Given the description of an element on the screen output the (x, y) to click on. 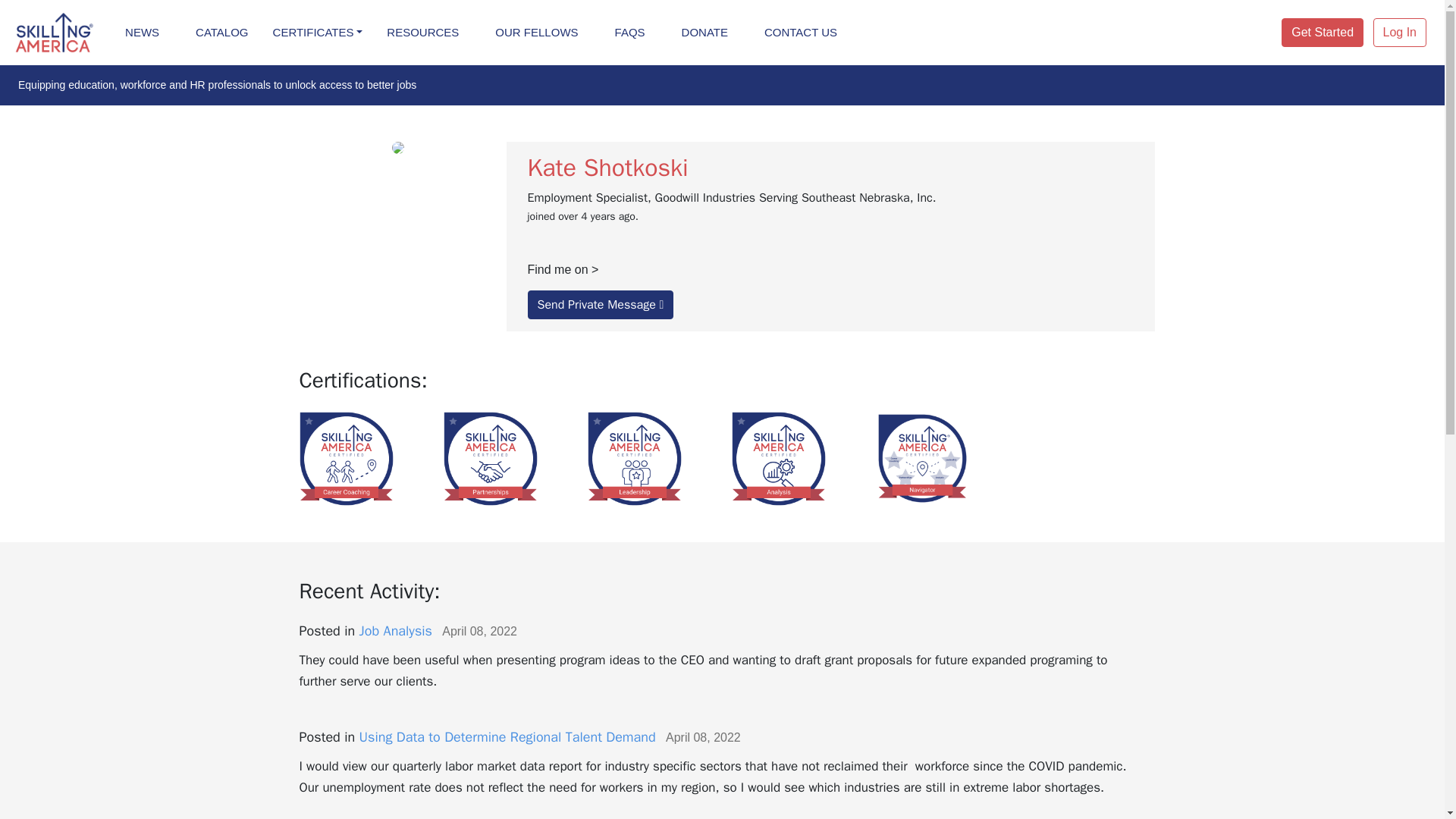
Log In (1399, 32)
CERTIFICATES (317, 32)
RESOURCES (422, 32)
Send Private Message (600, 304)
DONATE (704, 32)
FAQS (629, 32)
OUR FELLOWS (536, 32)
CONTACT US (800, 32)
Job Analysis (395, 630)
Using Data to Determine Regional Talent Demand (507, 736)
